Given the description of an element on the screen output the (x, y) to click on. 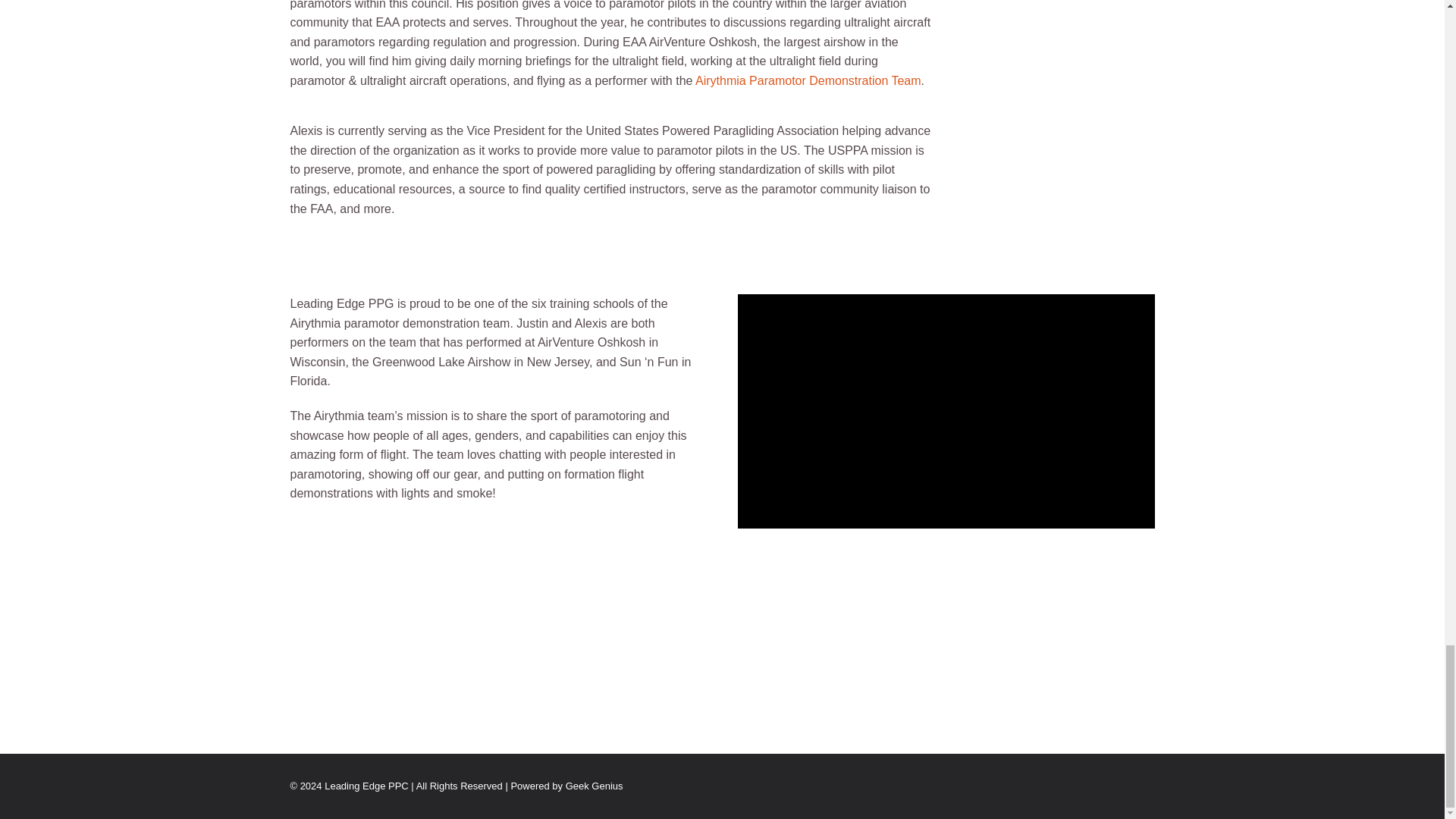
YouTube video player 1 (945, 411)
Geek Genius (594, 785)
Airythmia Paramotor Demonstration Team (808, 80)
